Given the description of an element on the screen output the (x, y) to click on. 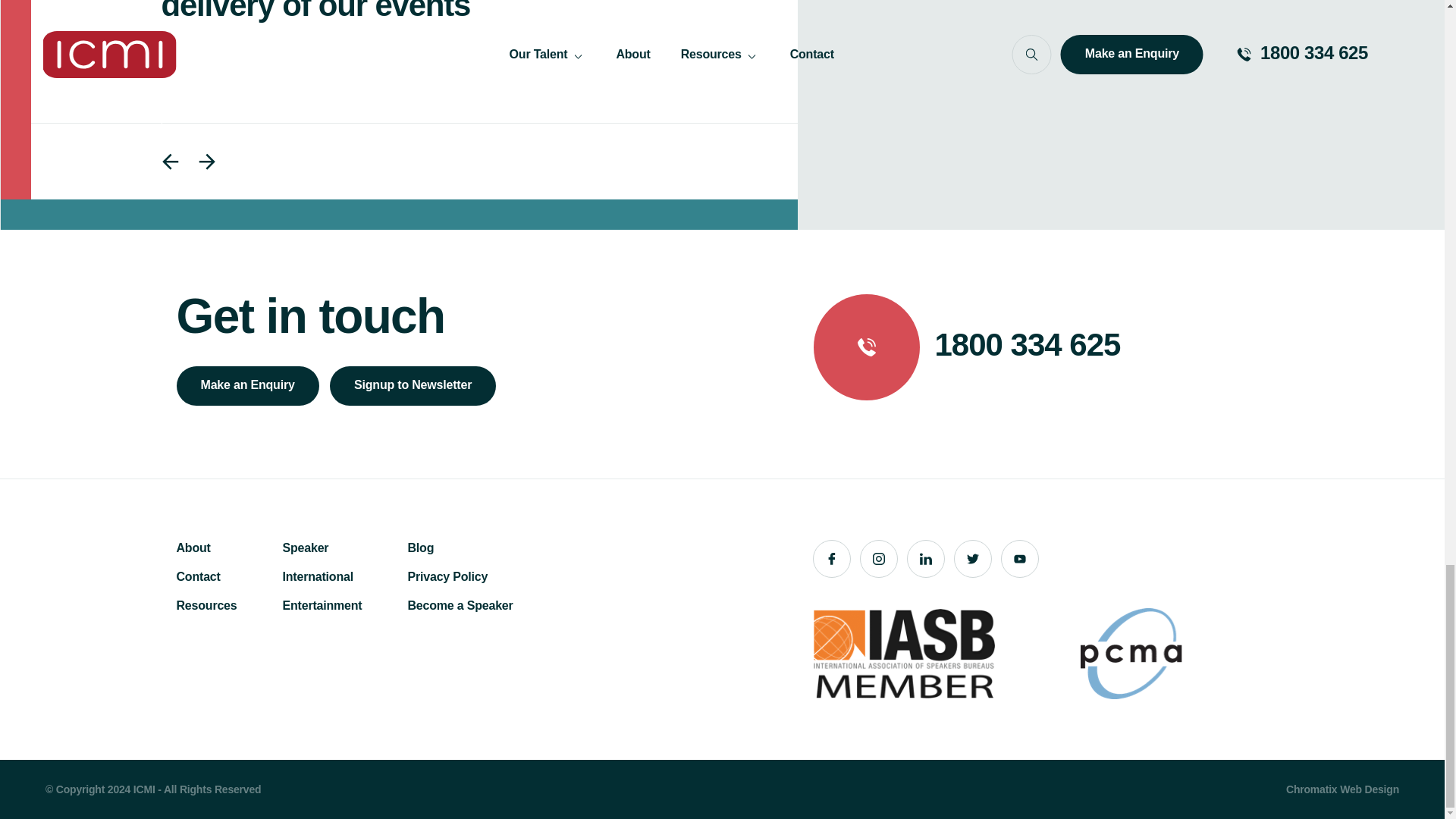
PCMA Logo (1132, 653)
IASB Logo (903, 653)
